Given the description of an element on the screen output the (x, y) to click on. 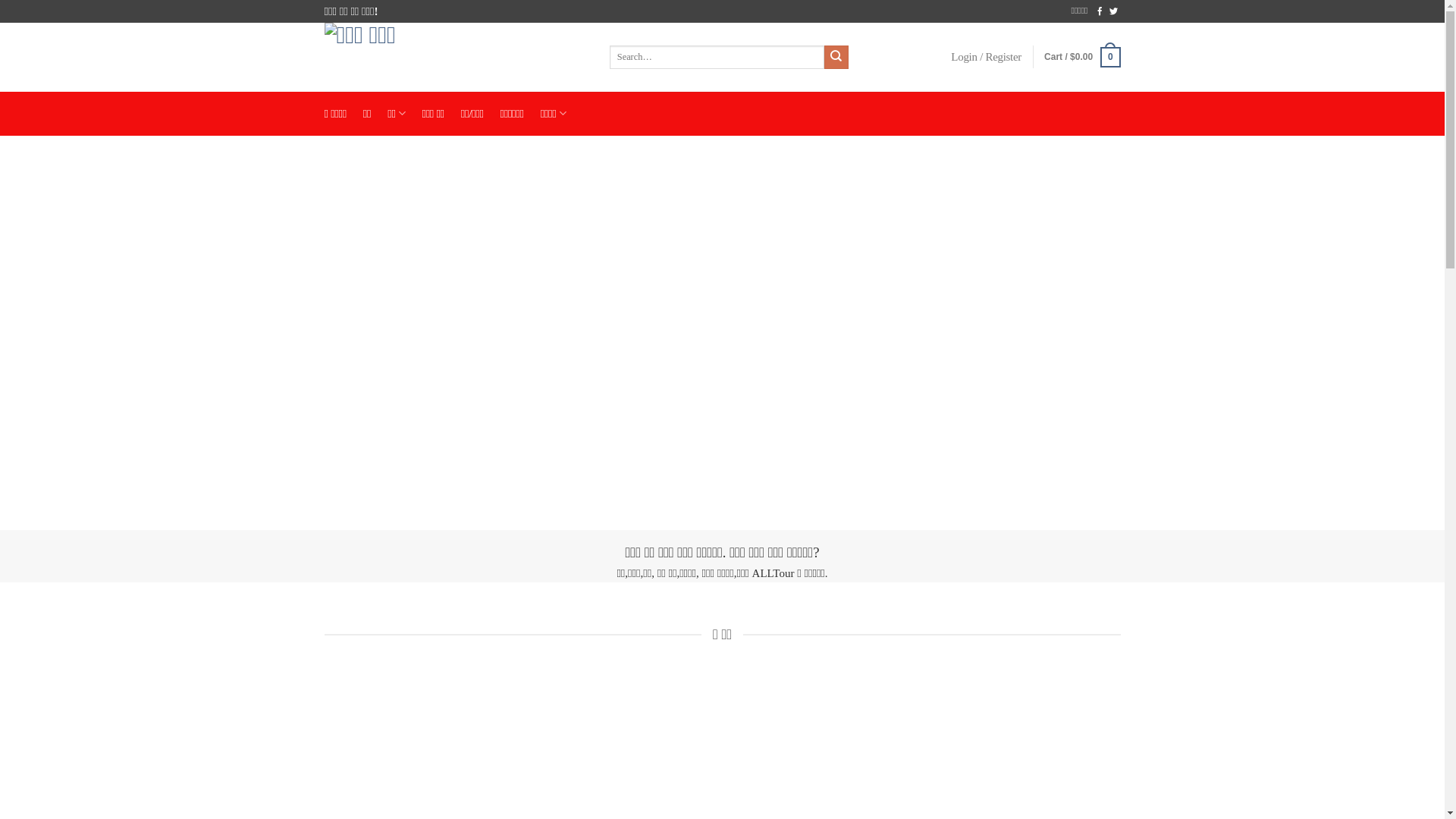
Login / Register Element type: text (985, 56)
Follow on Facebook Element type: hover (1099, 11)
Follow on Twitter Element type: hover (1113, 11)
Search Element type: text (836, 57)
Cart / $0.00
0 Element type: text (1082, 57)
